Given the description of an element on the screen output the (x, y) to click on. 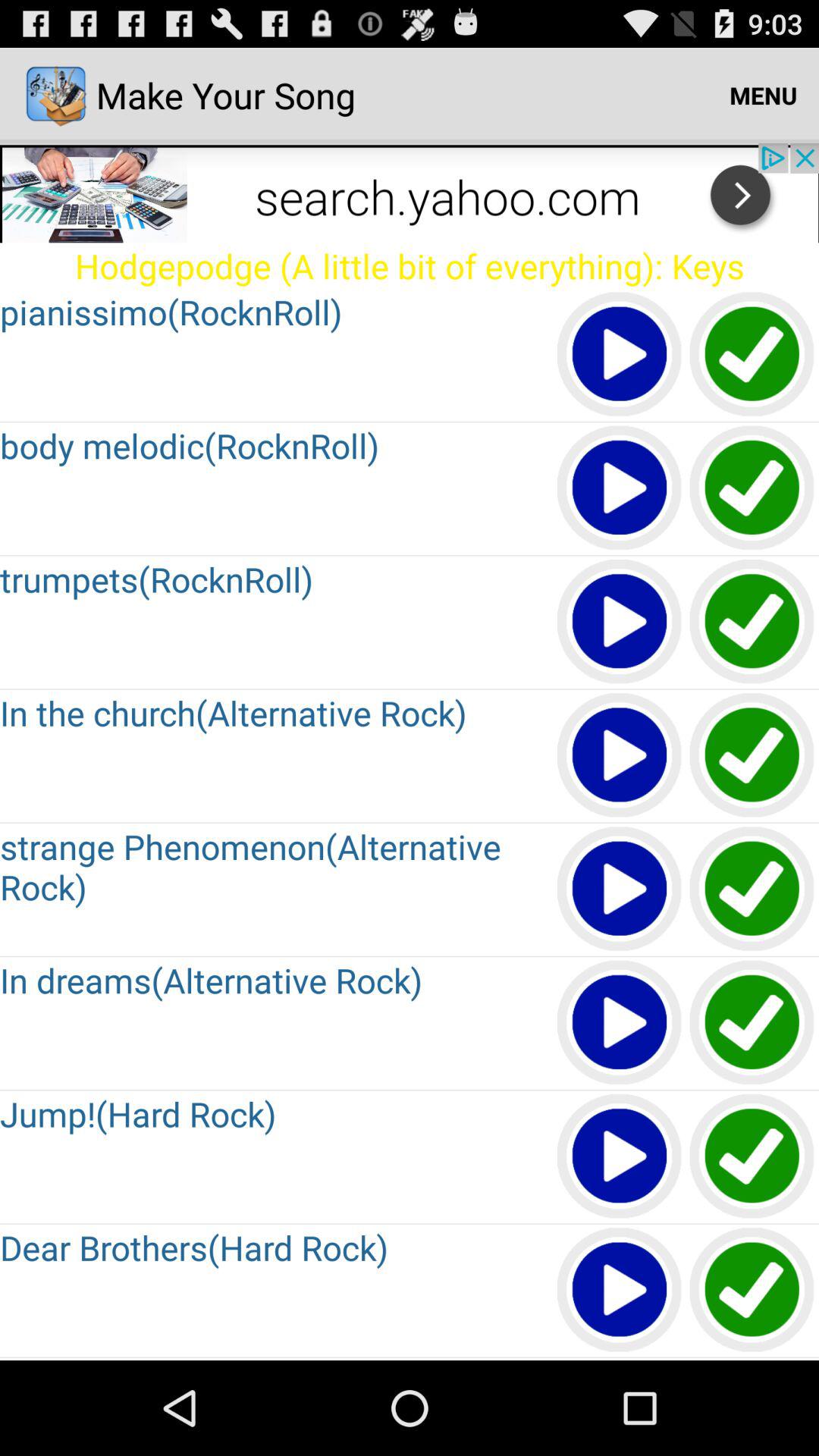
check button (752, 1023)
